Given the description of an element on the screen output the (x, y) to click on. 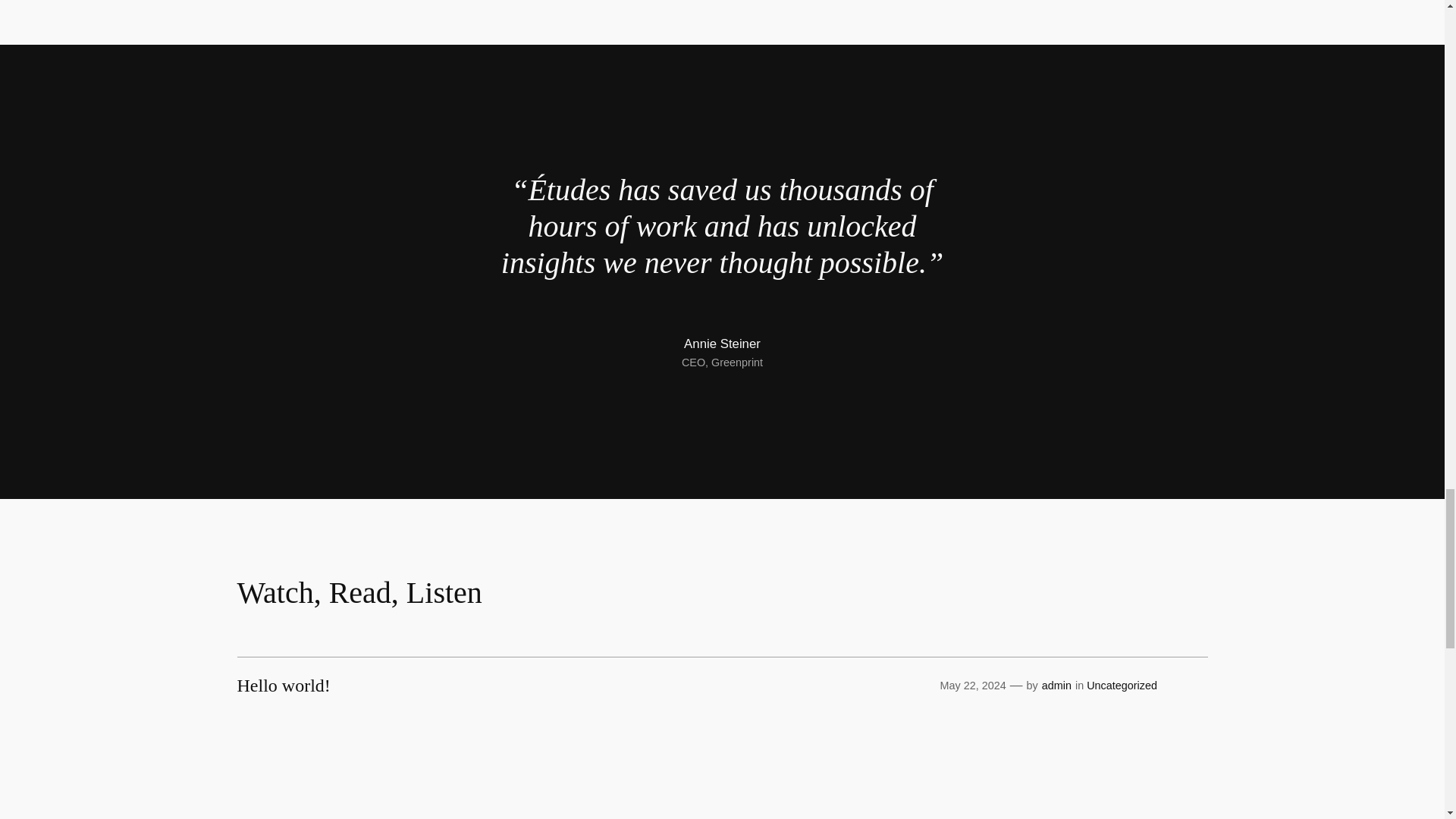
May 22, 2024 (972, 685)
admin (1056, 685)
Hello world! (282, 685)
Uncategorized (1121, 685)
